Given the description of an element on the screen output the (x, y) to click on. 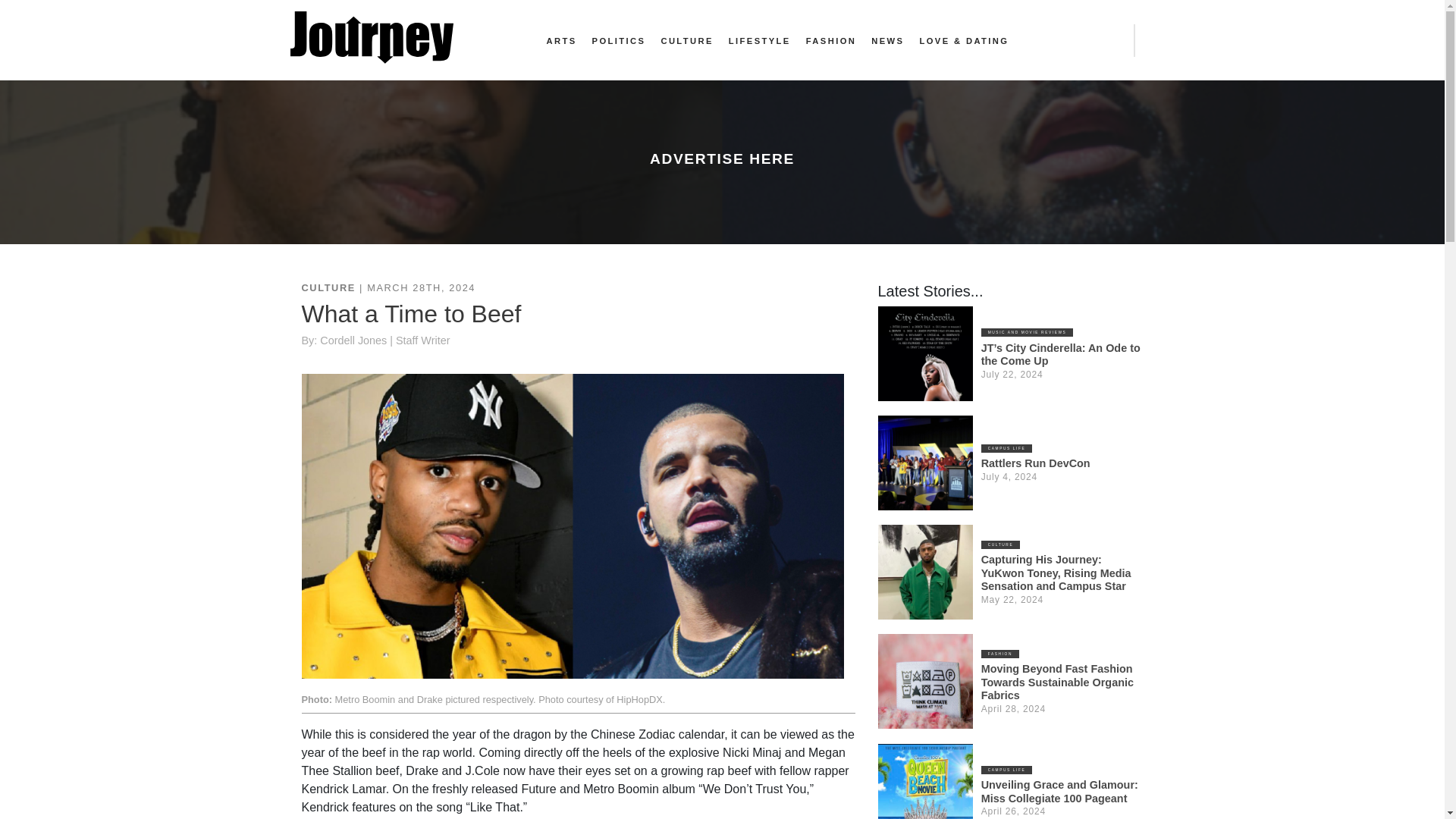
Unveiling Grace and Glamour: Miss Collegiate 100 Pageant (1059, 790)
LIFESTYLE (759, 40)
ADVERTISE HERE (721, 158)
CULTURE (1000, 544)
CAMPUS LIFE (1006, 448)
Journey Magazine (370, 37)
ARTS (561, 40)
FASHION (1000, 654)
MUSIC AND MOVIE REVIEWS (1027, 332)
